Given the description of an element on the screen output the (x, y) to click on. 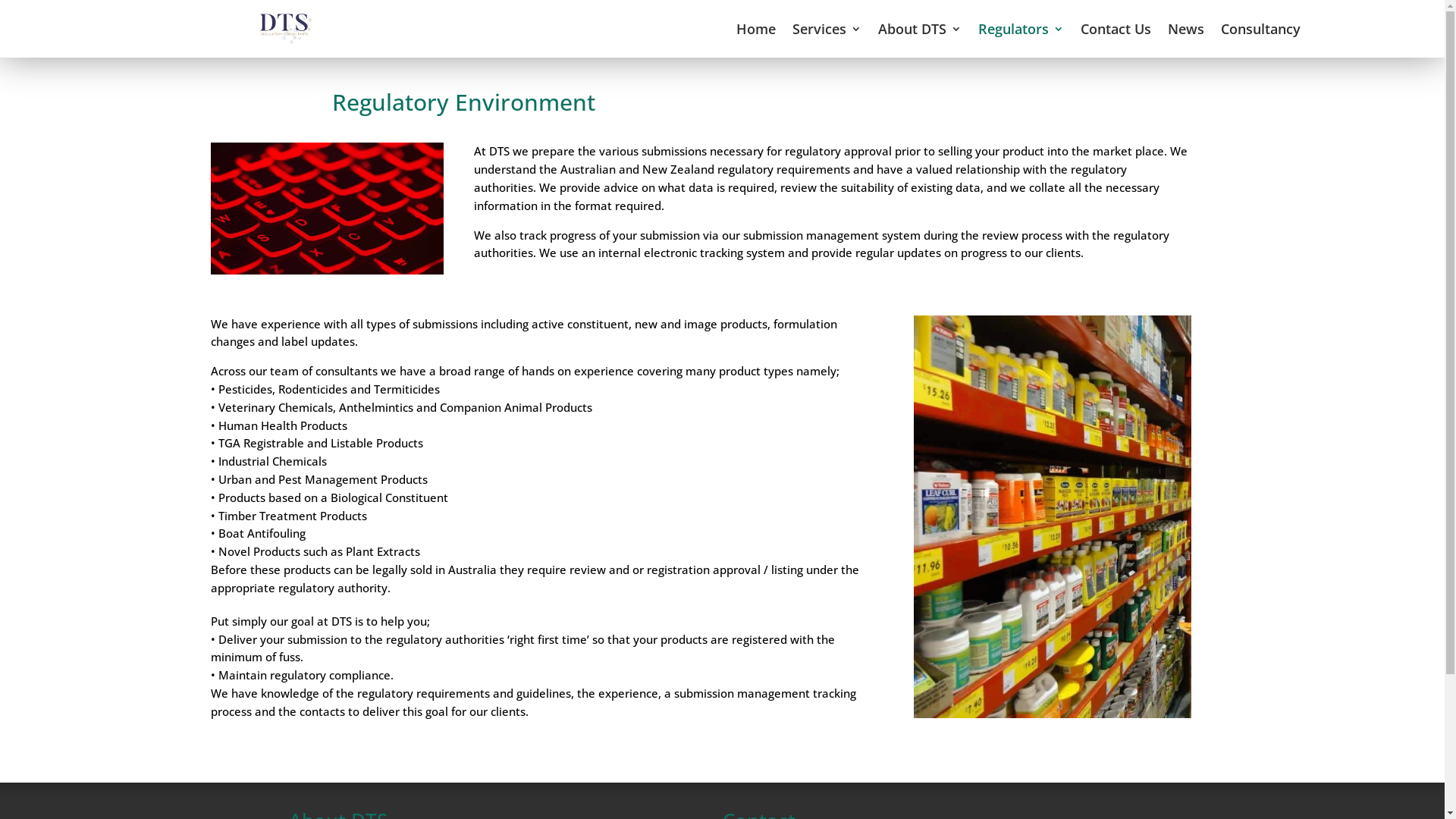
News Element type: text (1185, 28)
Home Element type: text (755, 28)
Services Element type: text (825, 28)
Consultancy Element type: text (1260, 28)
taskin-ashiq-464194-unsplash Element type: hover (326, 207)
containers-2-1 Element type: hover (1052, 516)
About DTS Element type: text (919, 28)
Regulators Element type: text (1020, 28)
Contact Us Element type: text (1114, 28)
